Given the description of an element on the screen output the (x, y) to click on. 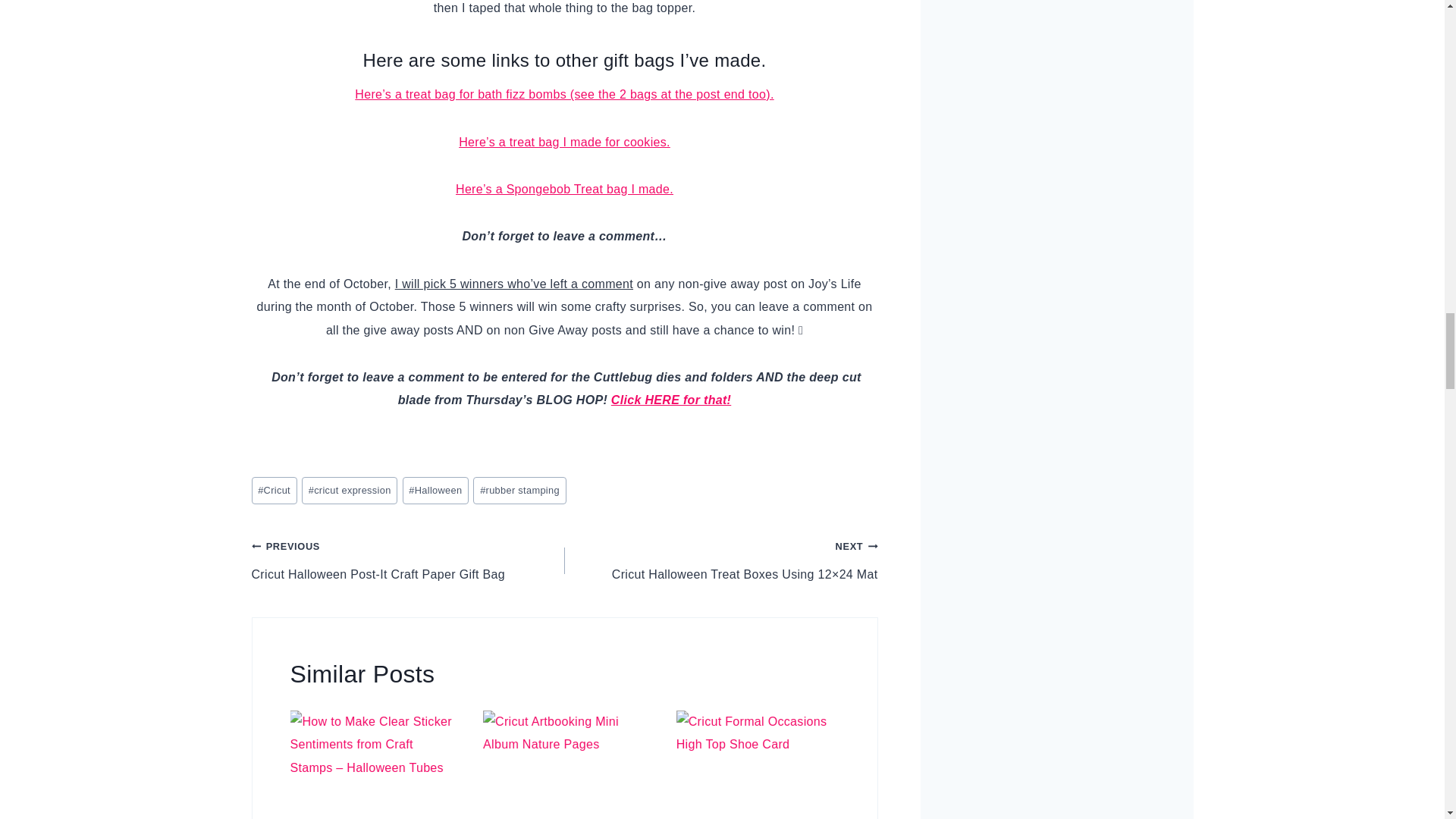
Cricut (274, 490)
rubber stamping (519, 490)
cricut expression (349, 490)
Halloween (435, 490)
